Given the description of an element on the screen output the (x, y) to click on. 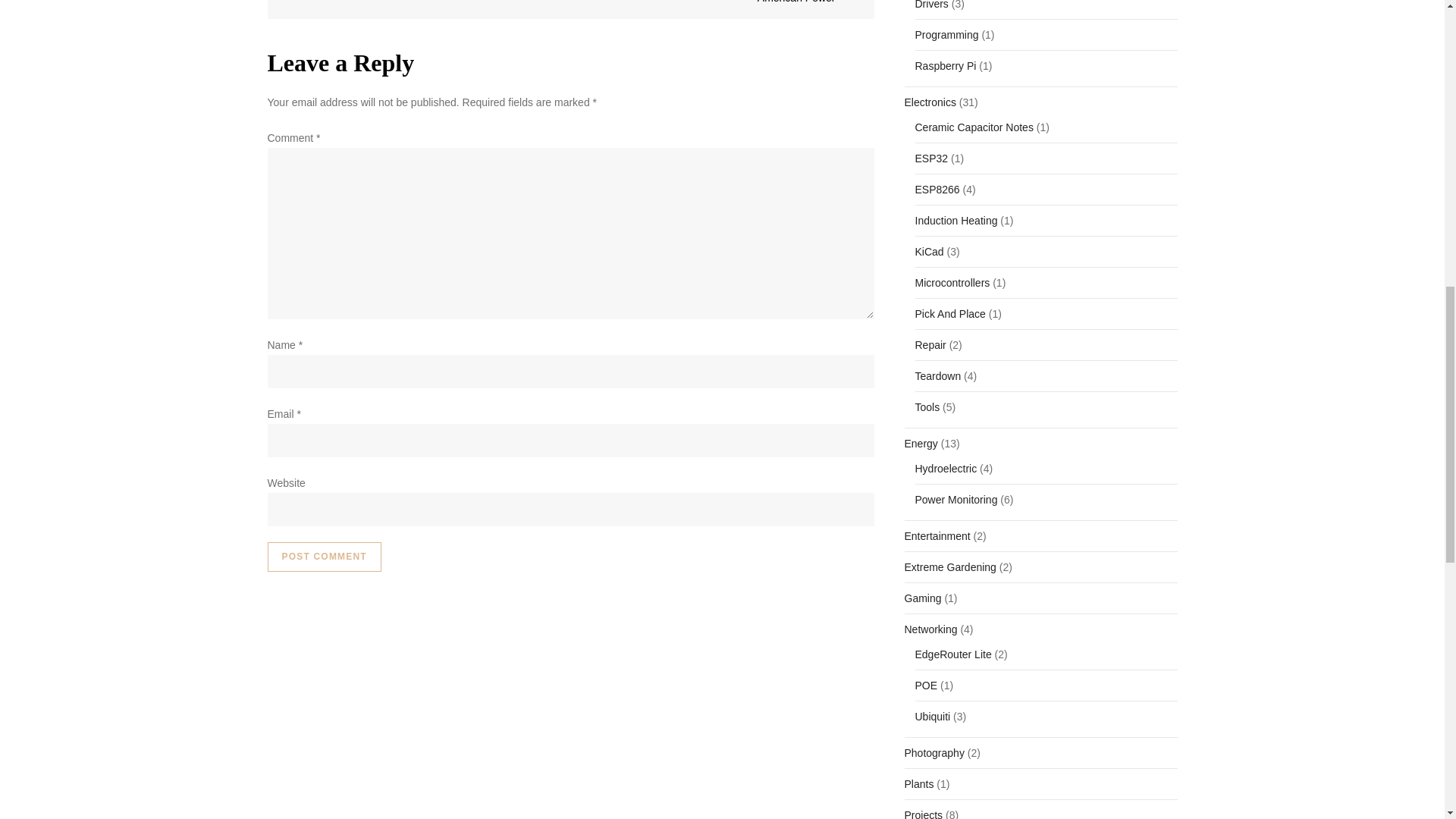
Post Comment (323, 557)
ESP32 (930, 158)
Teardown (937, 375)
Power Monitoring (955, 499)
Drivers (930, 6)
Networking (930, 629)
Programming (946, 35)
Induction Heating (955, 220)
Ceramic Capacitor Notes (973, 127)
Post Comment (323, 557)
Electronics (929, 102)
Tools (926, 406)
ESP8266 (936, 189)
Microcontrollers (952, 282)
Extreme Gardening (949, 567)
